Given the description of an element on the screen output the (x, y) to click on. 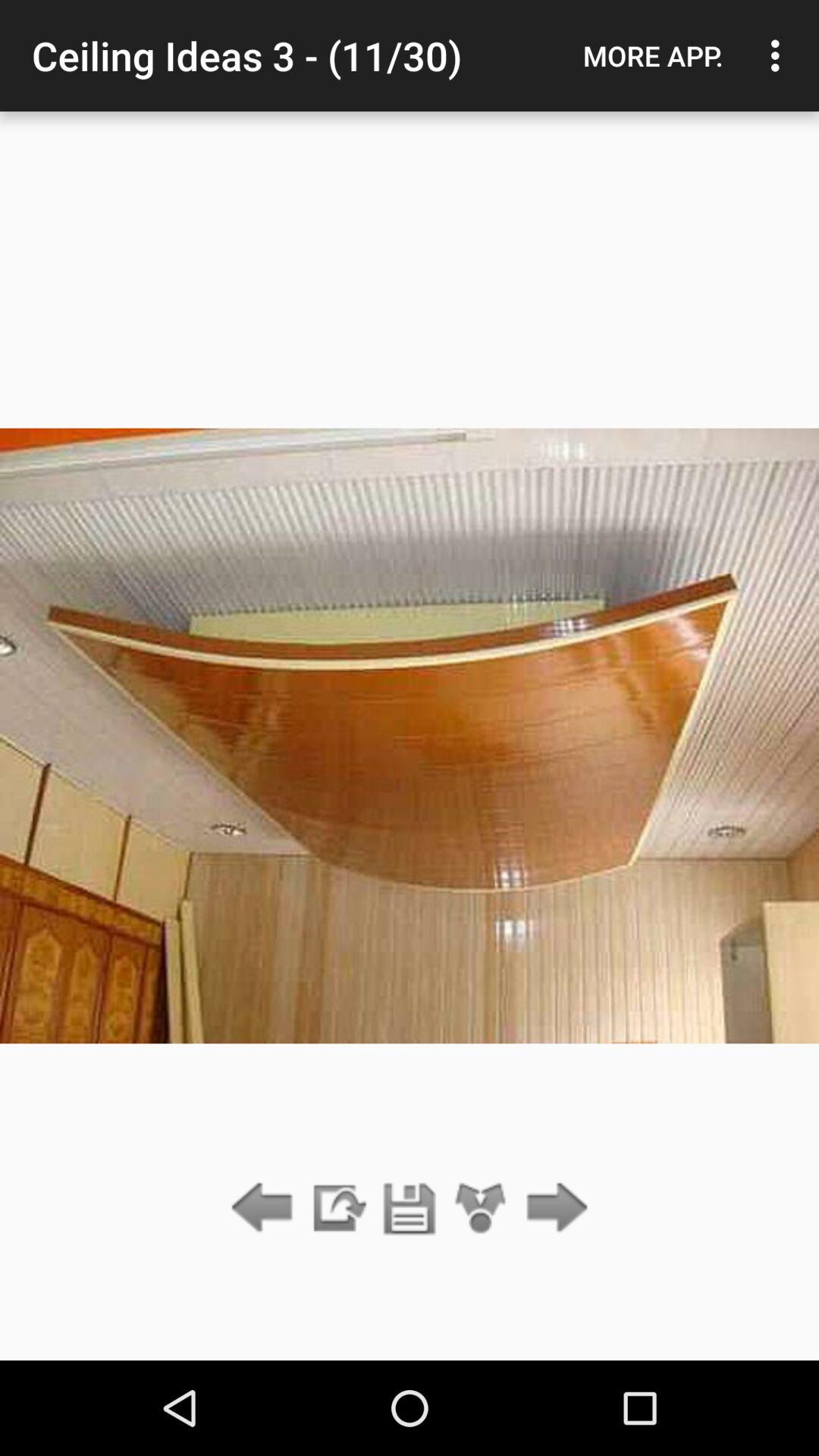
choose icon below the more app. icon (552, 1209)
